Given the description of an element on the screen output the (x, y) to click on. 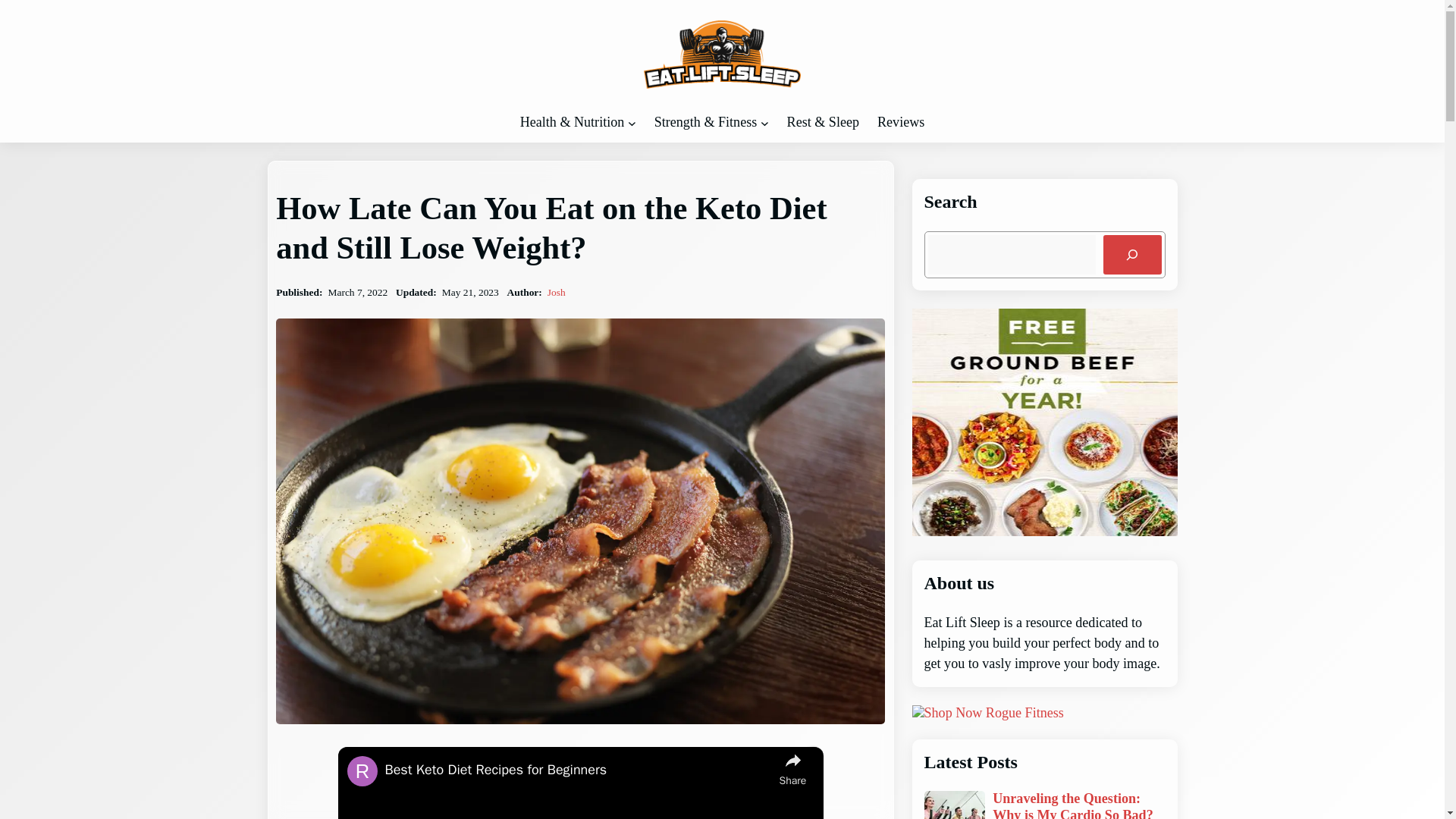
Shop Now Rogue Fitness (986, 713)
Unraveling the Question: Why is My Cardio So Bad? (1078, 805)
Reviews (900, 122)
Josh (556, 292)
Best Keto Diet Recipes for Beginners (578, 769)
